Given the description of an element on the screen output the (x, y) to click on. 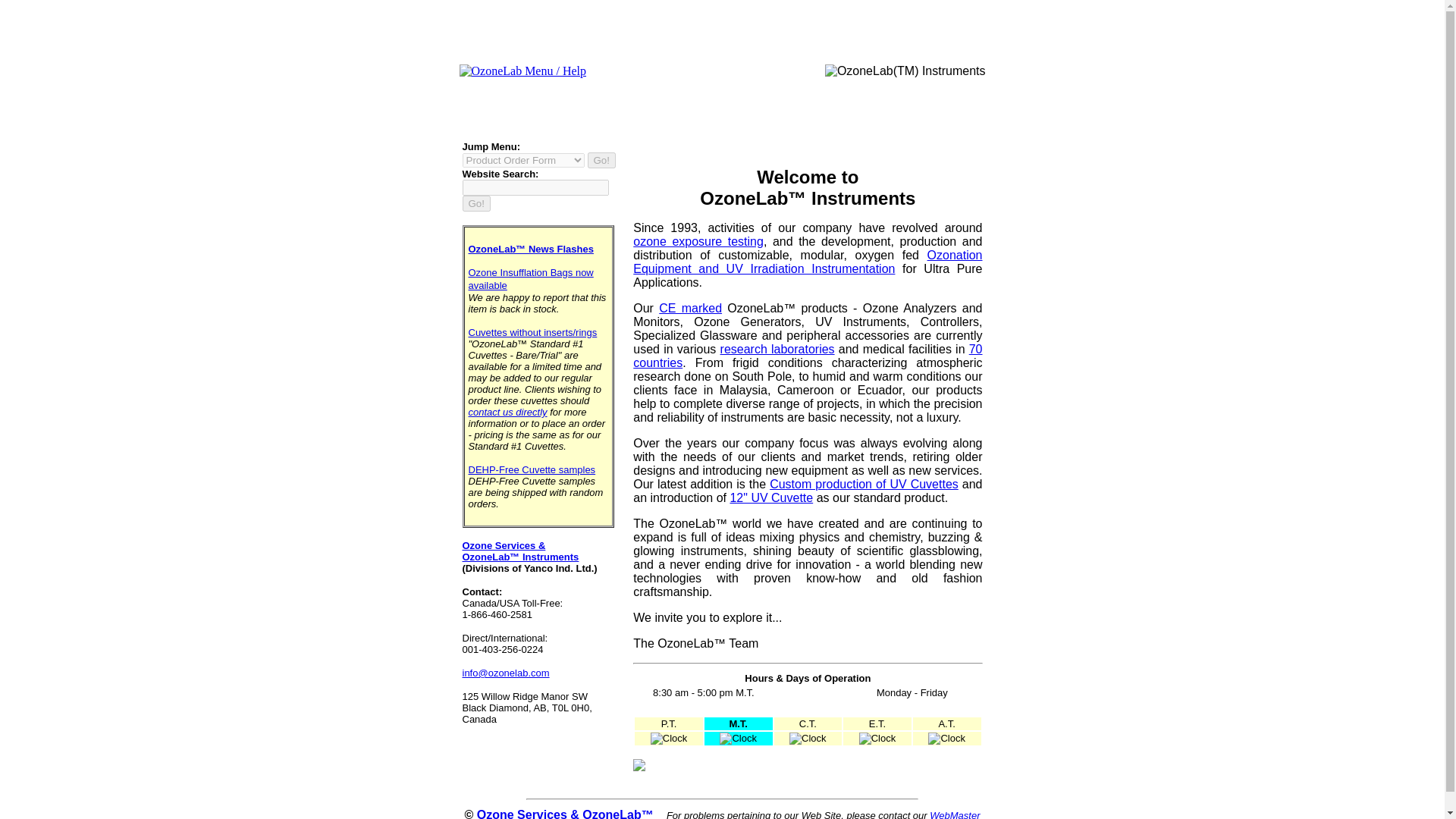
WebMaster (954, 814)
Ozone Insufflation Bags now available (531, 278)
Ozonation Equipment and UV Irradiation Instrumentation (807, 261)
contact us directly (507, 411)
ozone exposure testing (697, 241)
CE marked (690, 308)
Go! (476, 203)
70 countries (807, 356)
Go! (476, 203)
Go! (600, 160)
Custom production of UV Cuvettes (864, 483)
DEHP-Free Cuvette samples (531, 469)
research laboratories (777, 349)
12" UV Cuvette (770, 497)
